Given the description of an element on the screen output the (x, y) to click on. 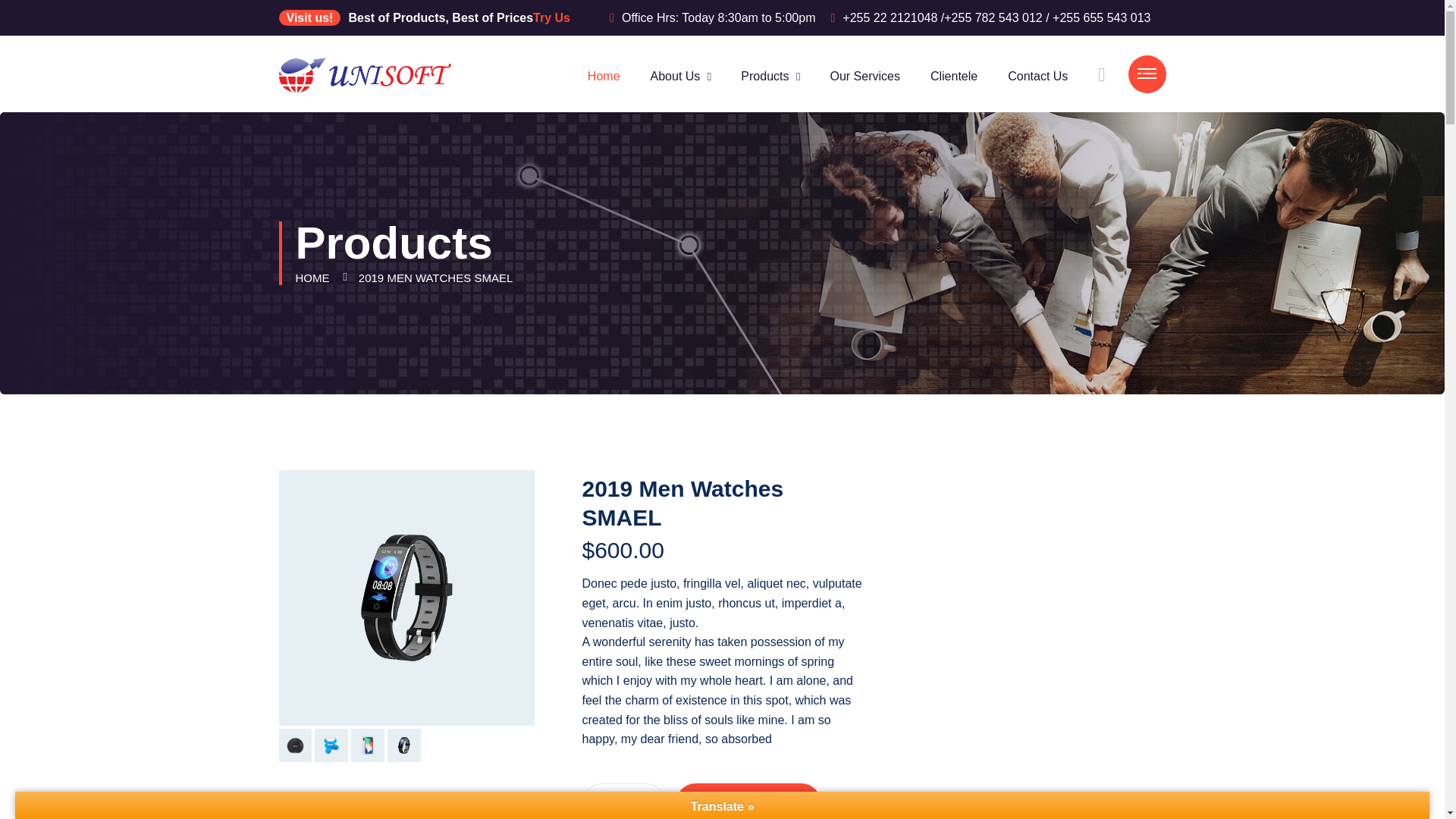
1 (623, 800)
Our Services (864, 76)
About Us (675, 76)
About Us (675, 76)
Products (765, 76)
Home (604, 76)
Try Us (551, 17)
Unisoft Technologies (365, 72)
Home (604, 76)
Contact Us (1037, 76)
Products (765, 76)
Clientele (953, 76)
